Given the description of an element on the screen output the (x, y) to click on. 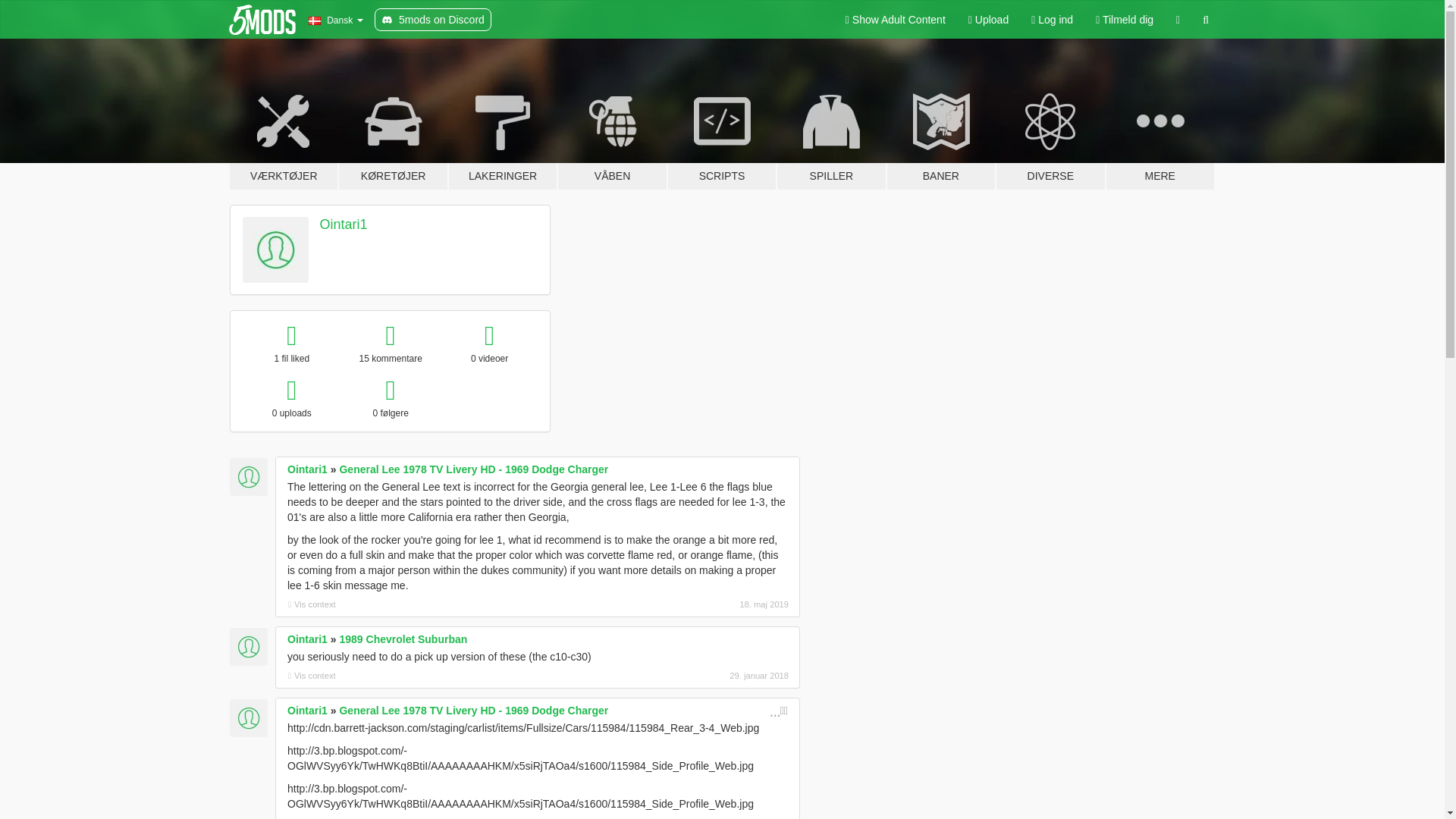
Perfekt (778, 710)
Show Adult Content (895, 19)
Tilmeld dig (1124, 19)
Log ind (1052, 19)
Upload (988, 19)
  Dansk (335, 19)
5mods on Discord (433, 19)
29. januar 2018, 00.14 (708, 675)
Light mode (895, 19)
18. maj 2019, 17.19 (708, 603)
